Given the description of an element on the screen output the (x, y) to click on. 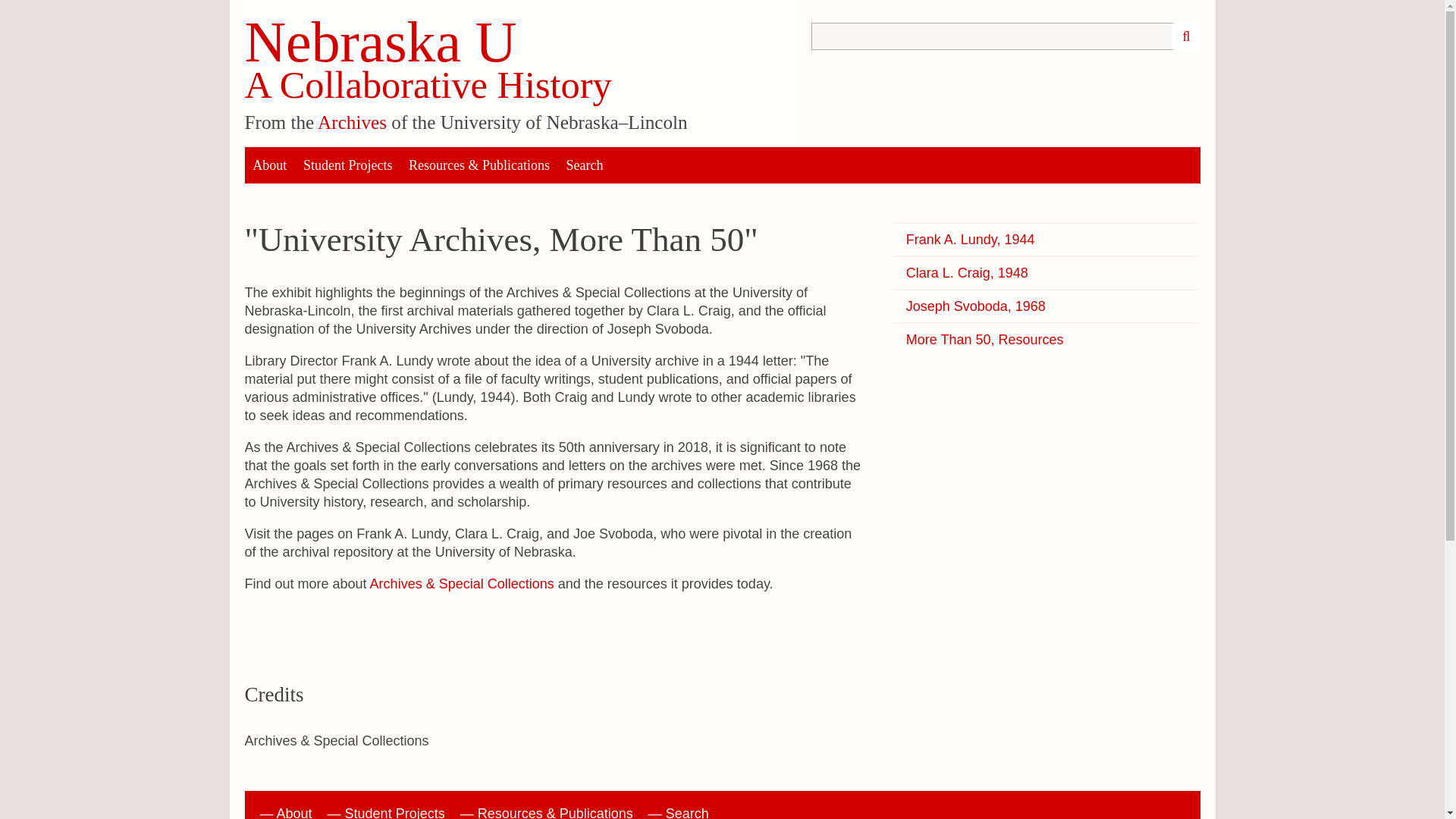
More Than 50, Resources (1045, 339)
About (294, 812)
About (269, 164)
Search (1185, 35)
Student Projects (395, 812)
Search (584, 164)
Student Projects (347, 164)
Nebraska U (380, 41)
Joseph Svoboda, 1968 (1045, 306)
Search (992, 35)
Clara L. Craig, 1948 (1045, 272)
Search (687, 812)
Frank A. Lundy, 1944 (1045, 239)
